Given the description of an element on the screen output the (x, y) to click on. 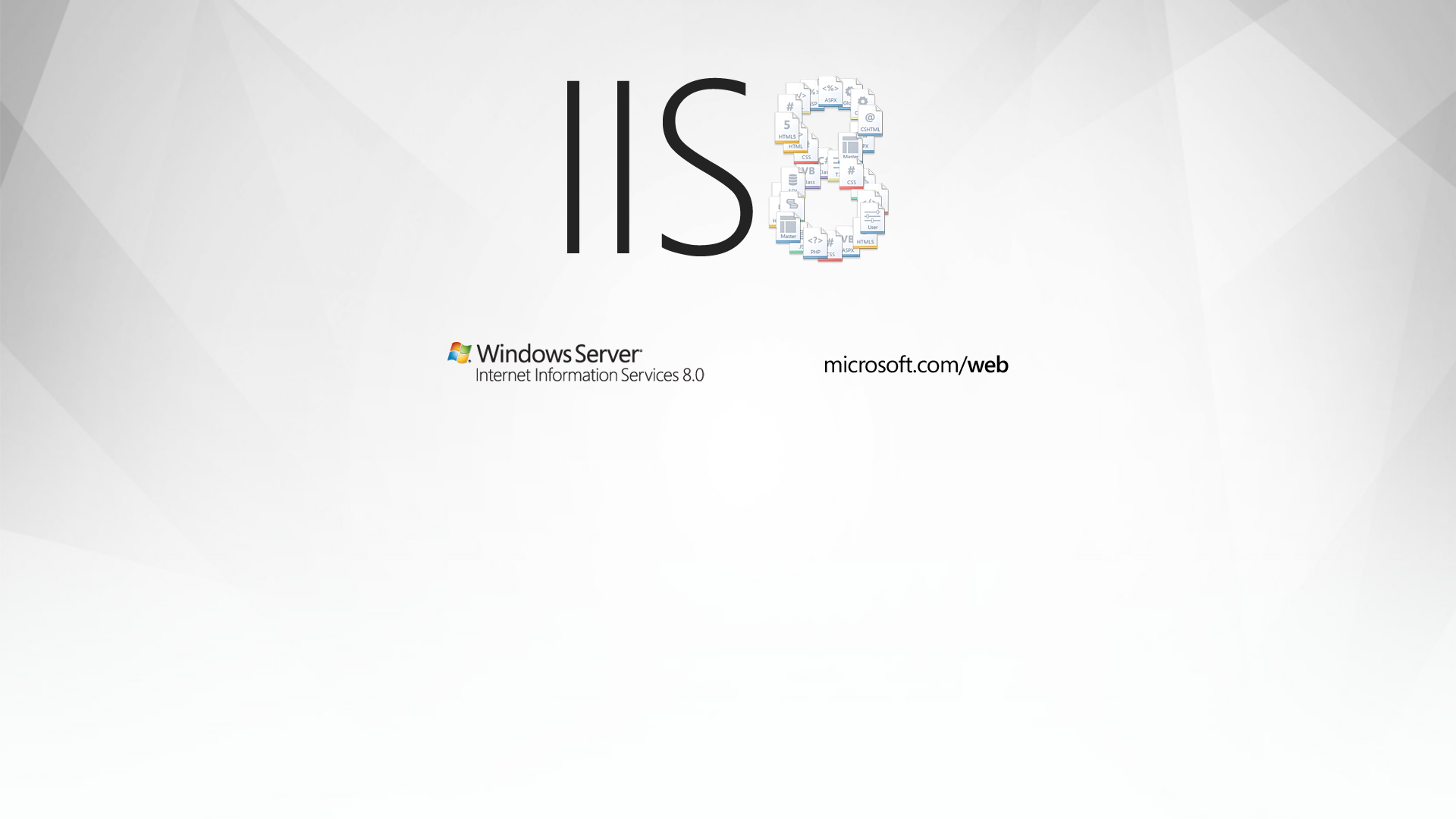
microsoft.com/web Element type: hover (727, 208)
